Given the description of an element on the screen output the (x, y) to click on. 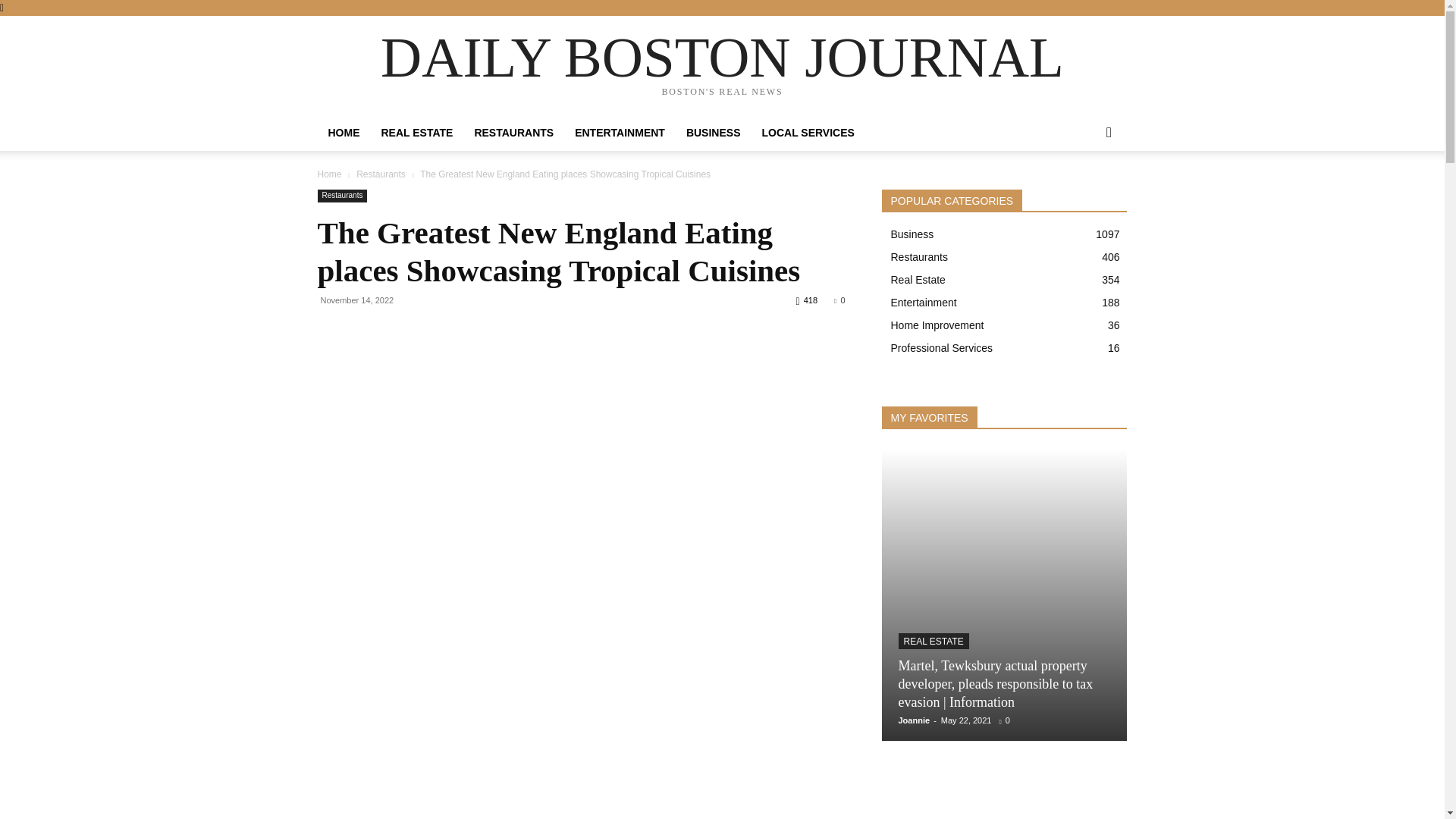
BUSINESS (713, 132)
DAILY BOSTON JOURNAL (722, 56)
LOCAL SERVICES (807, 132)
ENTERTAINMENT (619, 132)
Home (328, 173)
Restaurants (341, 195)
REAL ESTATE (416, 132)
HOME (343, 132)
View all posts in Restaurants (381, 173)
0 (839, 299)
Search (1085, 192)
Restaurants (381, 173)
RESTAURANTS (513, 132)
